Given the description of an element on the screen output the (x, y) to click on. 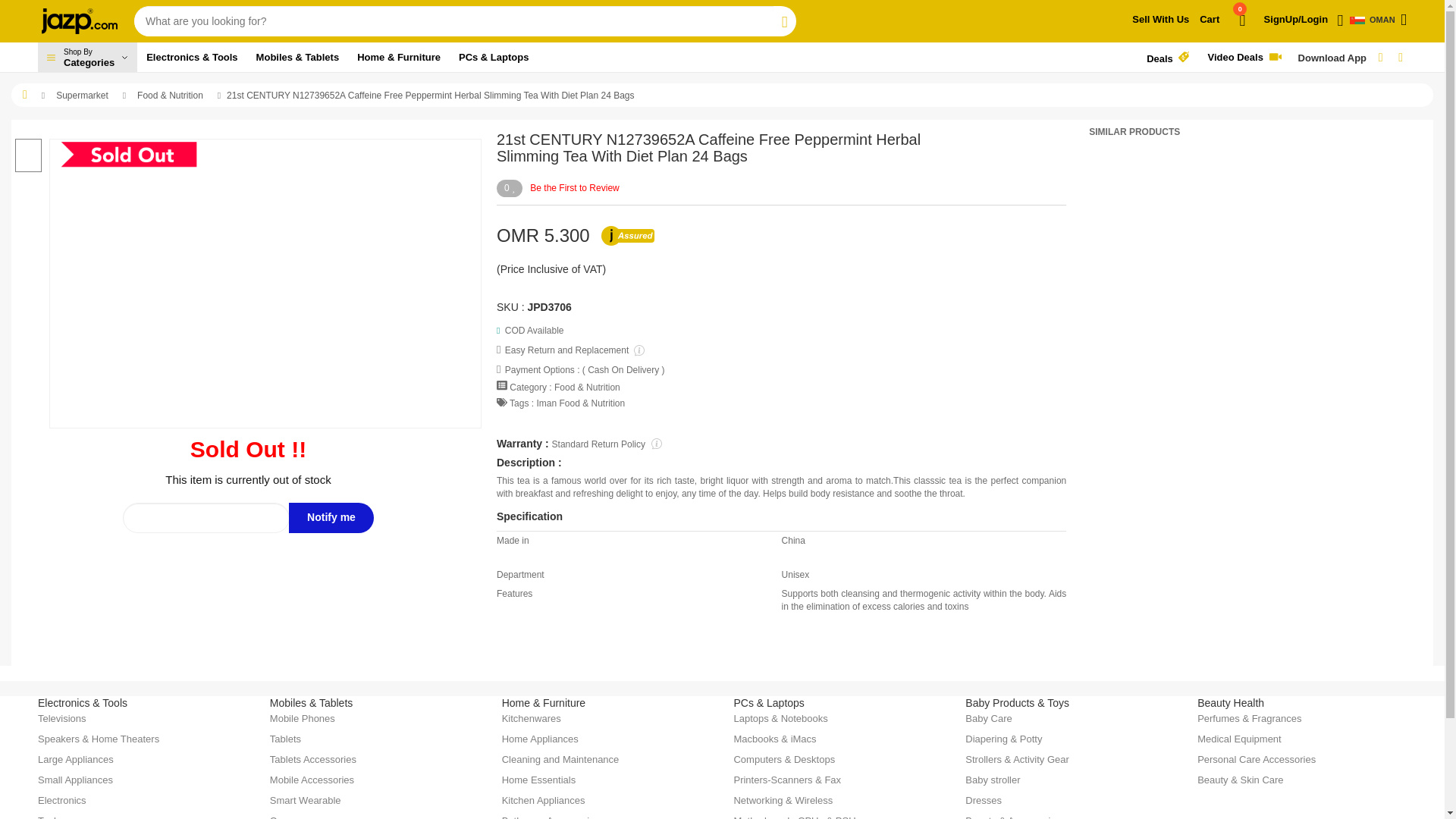
Shop By Categories (86, 57)
Deals (1224, 25)
Notify me (1167, 57)
OMAN (331, 517)
Sell With Us (1376, 19)
Video Deals (1160, 19)
